Given the description of an element on the screen output the (x, y) to click on. 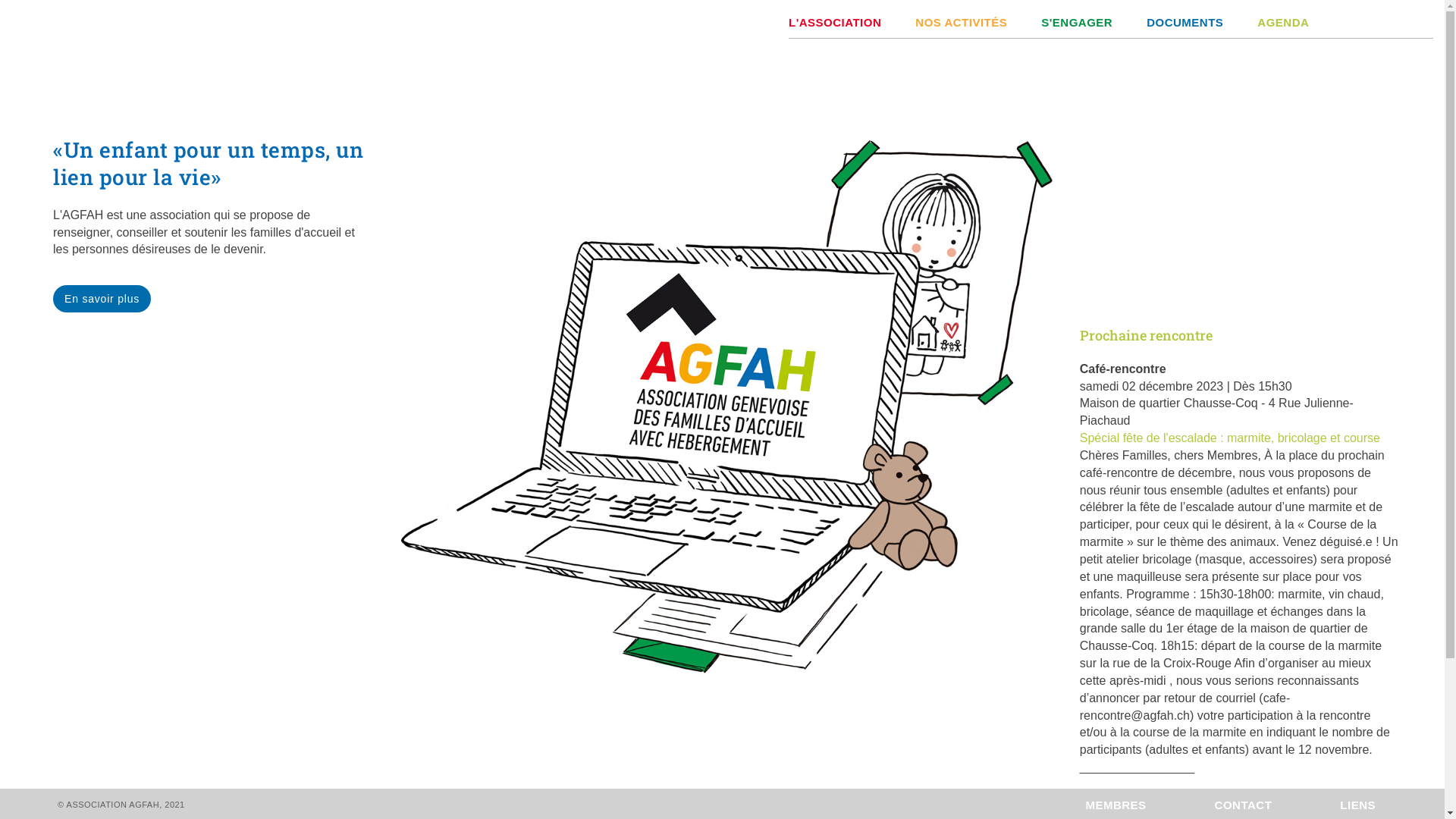
L'ASSOCIATION Element type: text (834, 18)
CONTACT Element type: text (1277, 804)
LIENS Element type: text (1391, 804)
DOCUMENTS Element type: text (1167, 18)
AGENDA Element type: text (1265, 18)
S'ENGAGER Element type: text (1059, 18)
En savoir plus Element type: text (101, 298)
MEMBRES Element type: text (1149, 804)
